Given the description of an element on the screen output the (x, y) to click on. 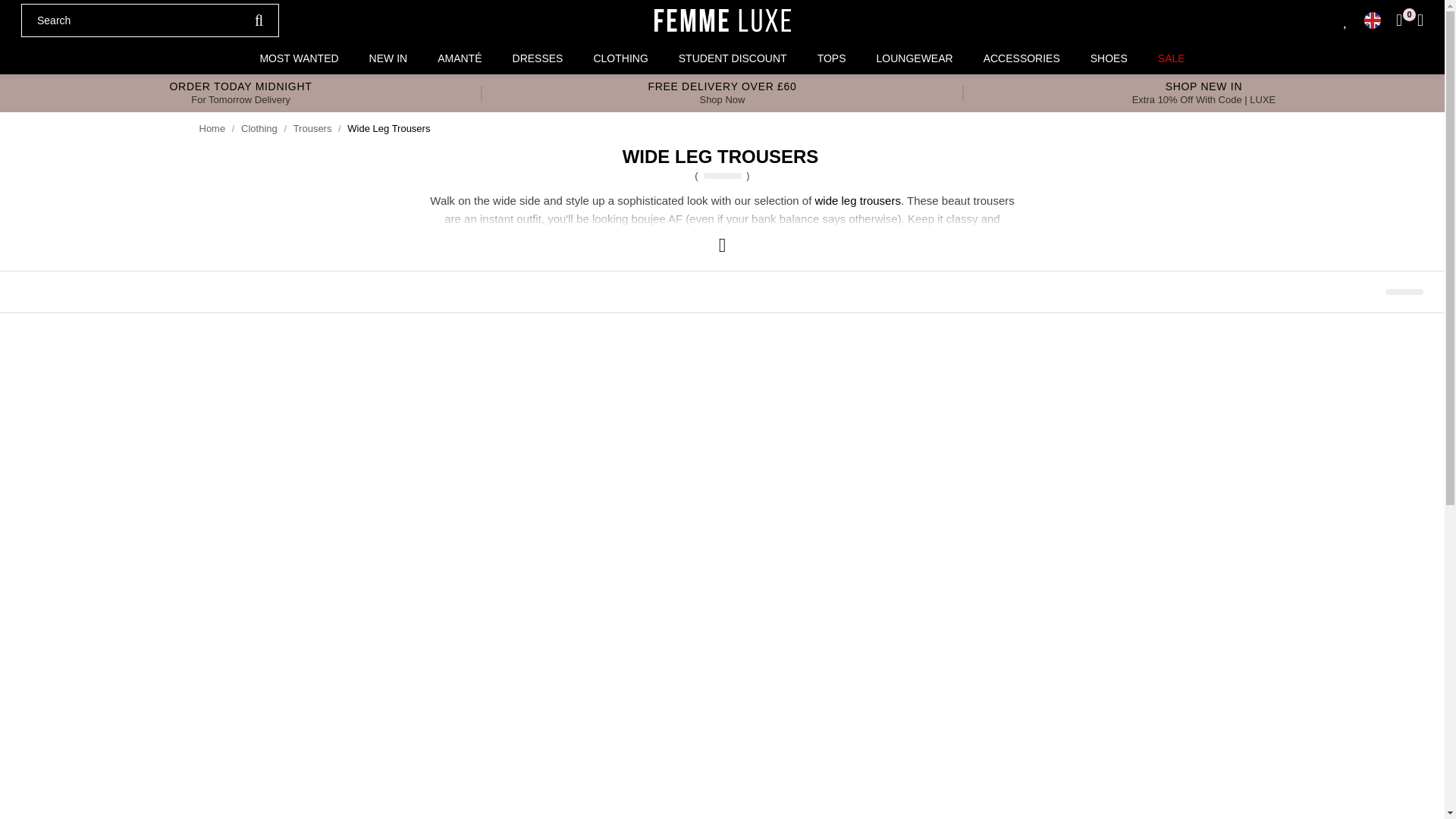
NEW IN (388, 57)
DRESSES (537, 57)
MOST WANTED (298, 57)
Femme Luxe (721, 20)
Trousers (312, 128)
submit (259, 20)
Home (211, 128)
Clothing (259, 128)
